Given the description of an element on the screen output the (x, y) to click on. 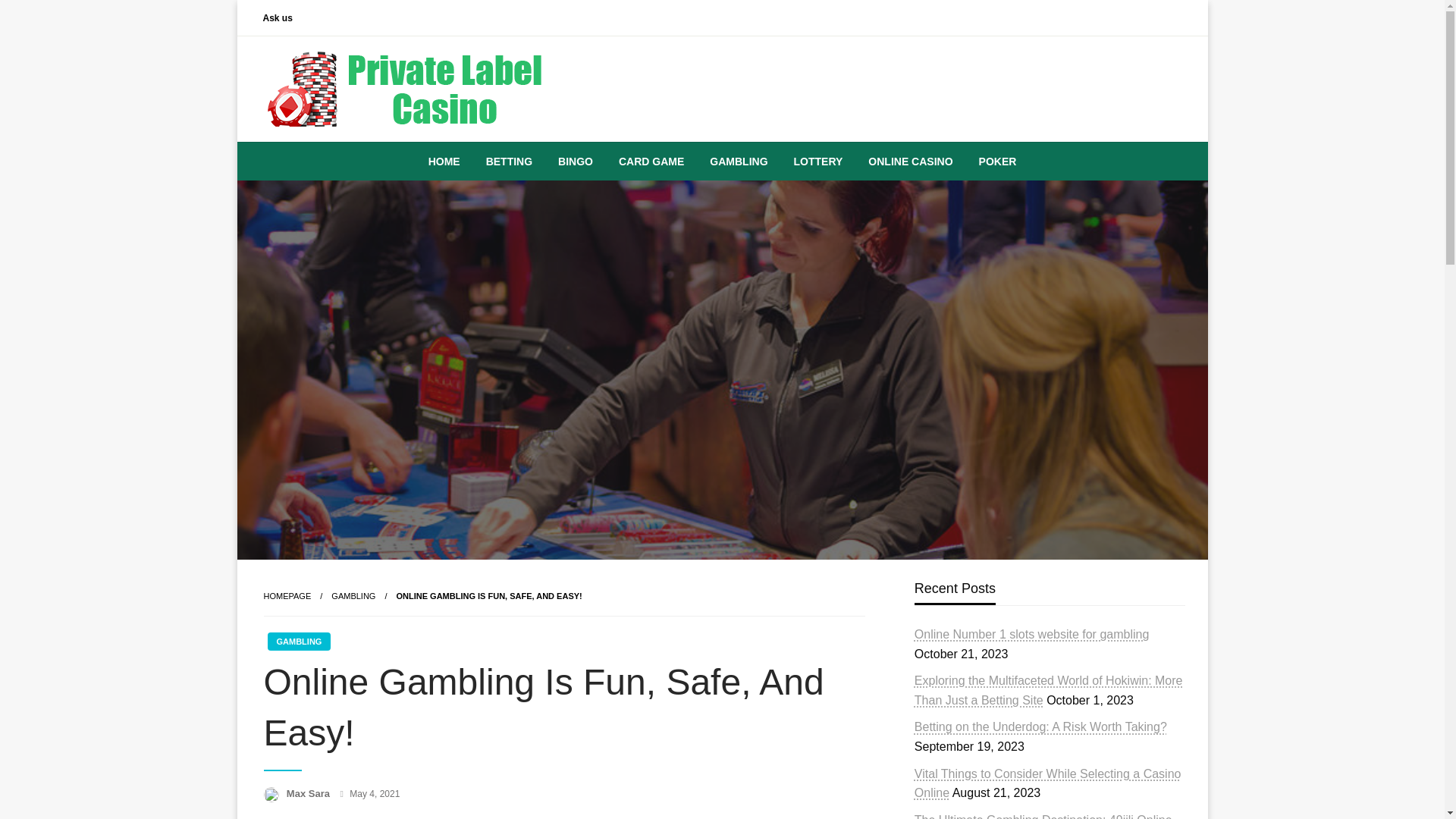
Ask us (277, 17)
BINGO (574, 161)
GAMBLING (353, 595)
Gambling (353, 595)
Homepage (287, 595)
GAMBLING (298, 641)
GAMBLING (738, 161)
Max Sara (309, 793)
LOTTERY (818, 161)
CARD GAME (651, 161)
HOMEPAGE (287, 595)
Max Sara (309, 793)
Online Gambling Is Fun, Safe, And Easy! (488, 595)
May 4, 2021 (373, 793)
POKER (997, 161)
